Given the description of an element on the screen output the (x, y) to click on. 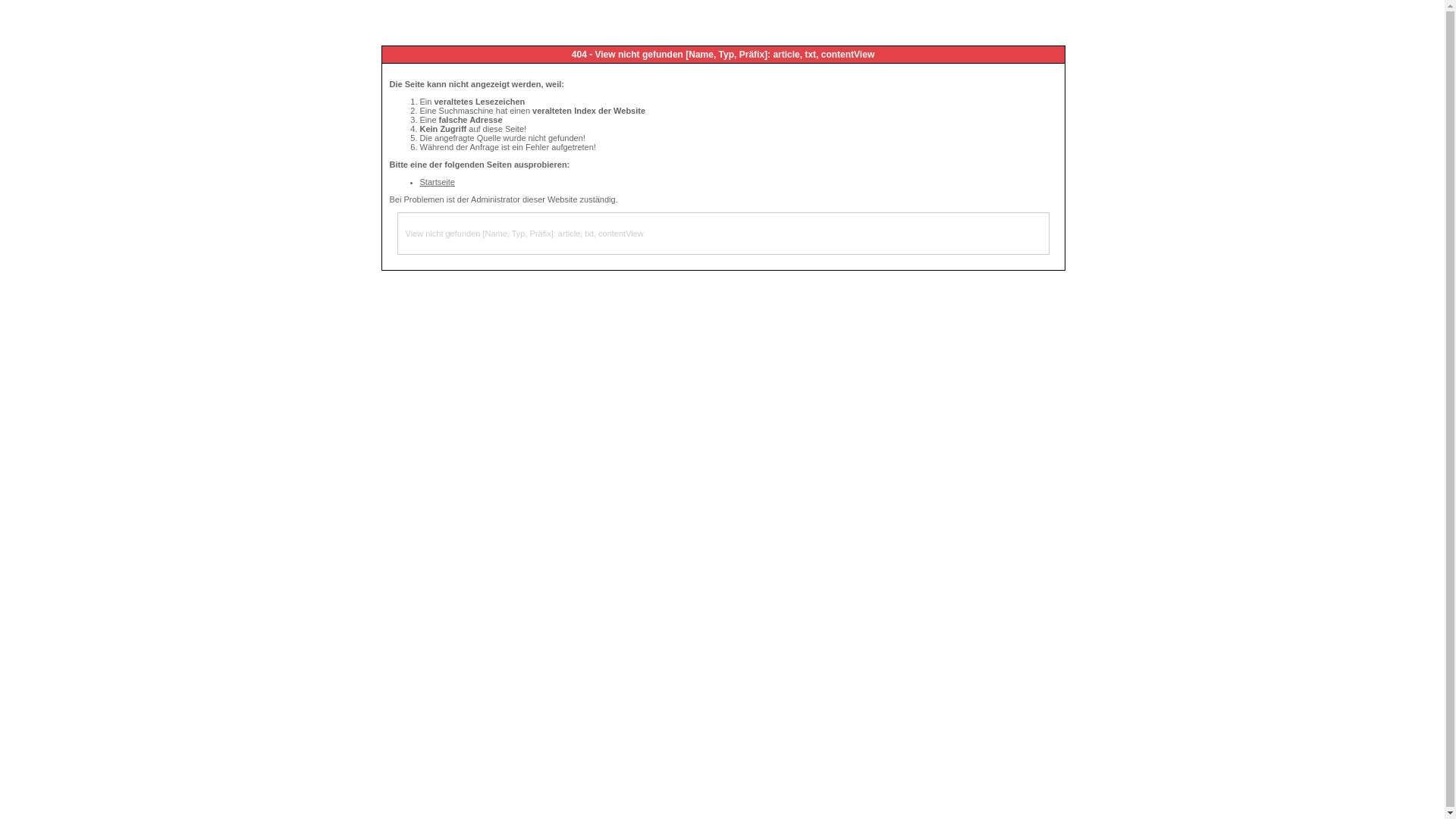
Startseite Element type: text (437, 181)
